Given the description of an element on the screen output the (x, y) to click on. 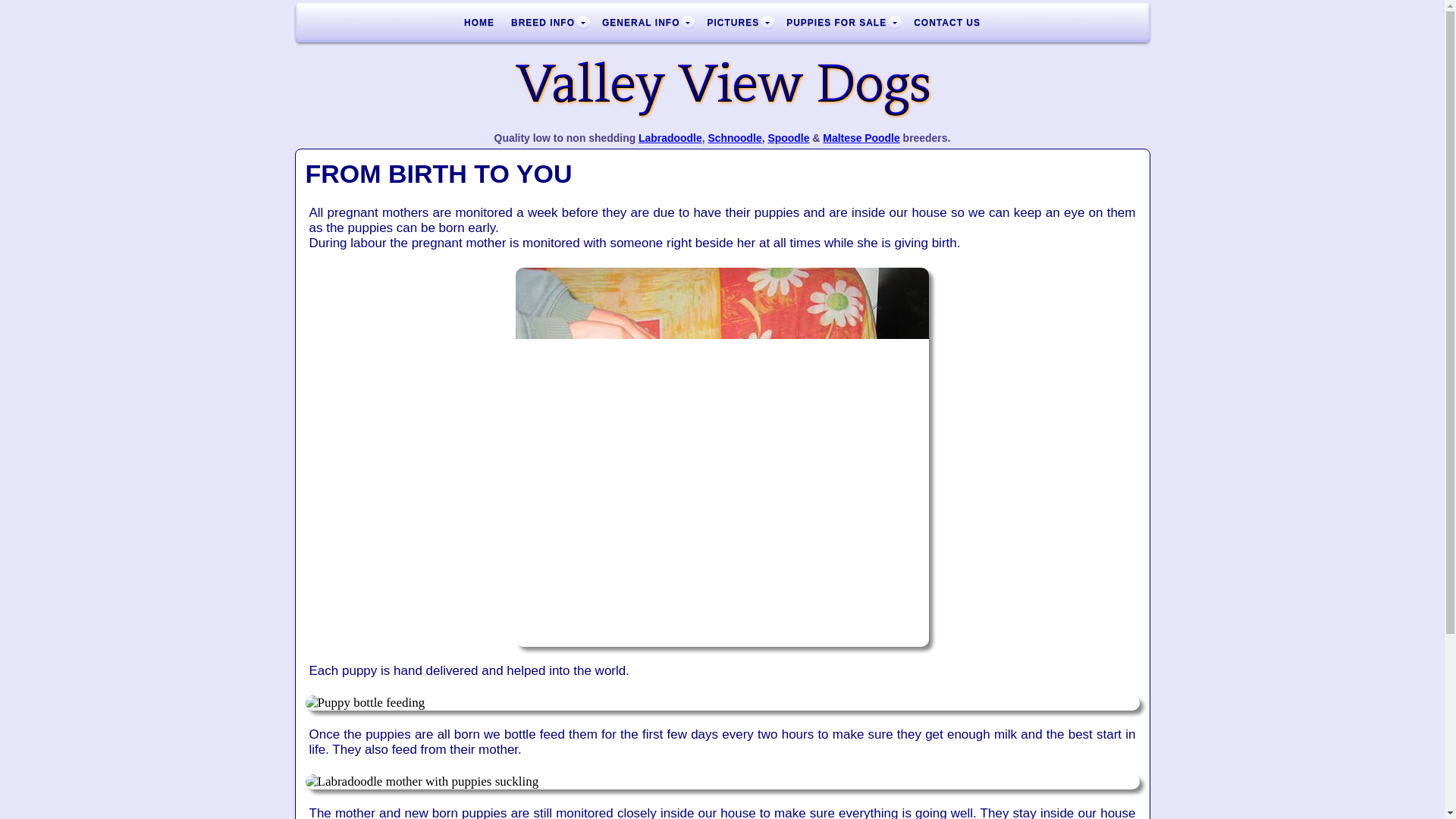
PICTURES (737, 22)
PUPPIES FOR SALE (841, 22)
HOME (478, 22)
GENERAL INFO (646, 22)
BREED INFO (548, 22)
Labradoodle (670, 137)
CONTACT US (946, 22)
Schnoodle (734, 137)
